Given the description of an element on the screen output the (x, y) to click on. 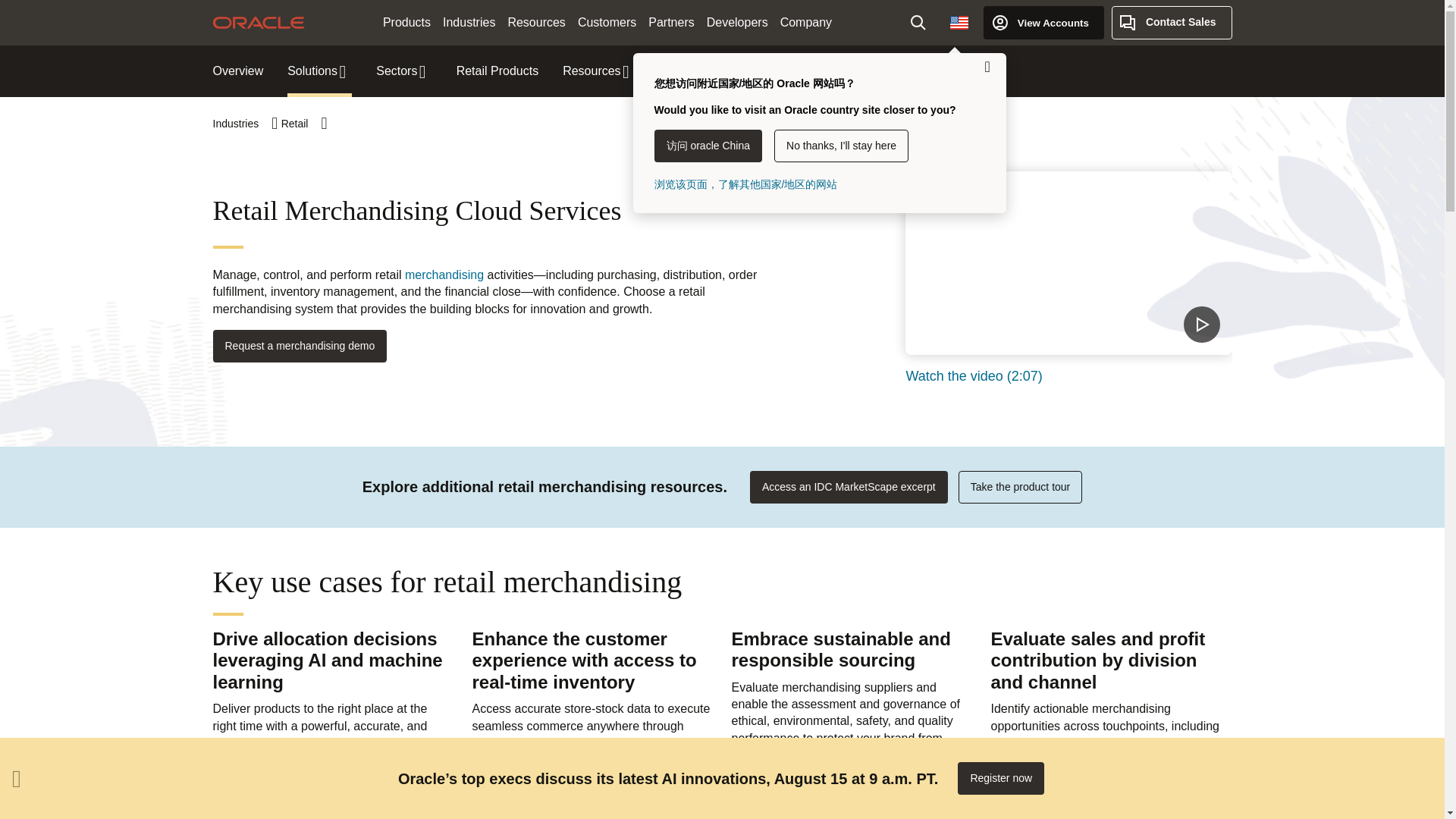
Country (958, 22)
Industries (468, 22)
Contact Sales (1171, 22)
Read the excerpt (848, 486)
View Accounts (1043, 22)
Products (406, 22)
Partners (671, 22)
No thanks, I'll stay here (841, 145)
Overview (237, 71)
Resources (535, 22)
